Given the description of an element on the screen output the (x, y) to click on. 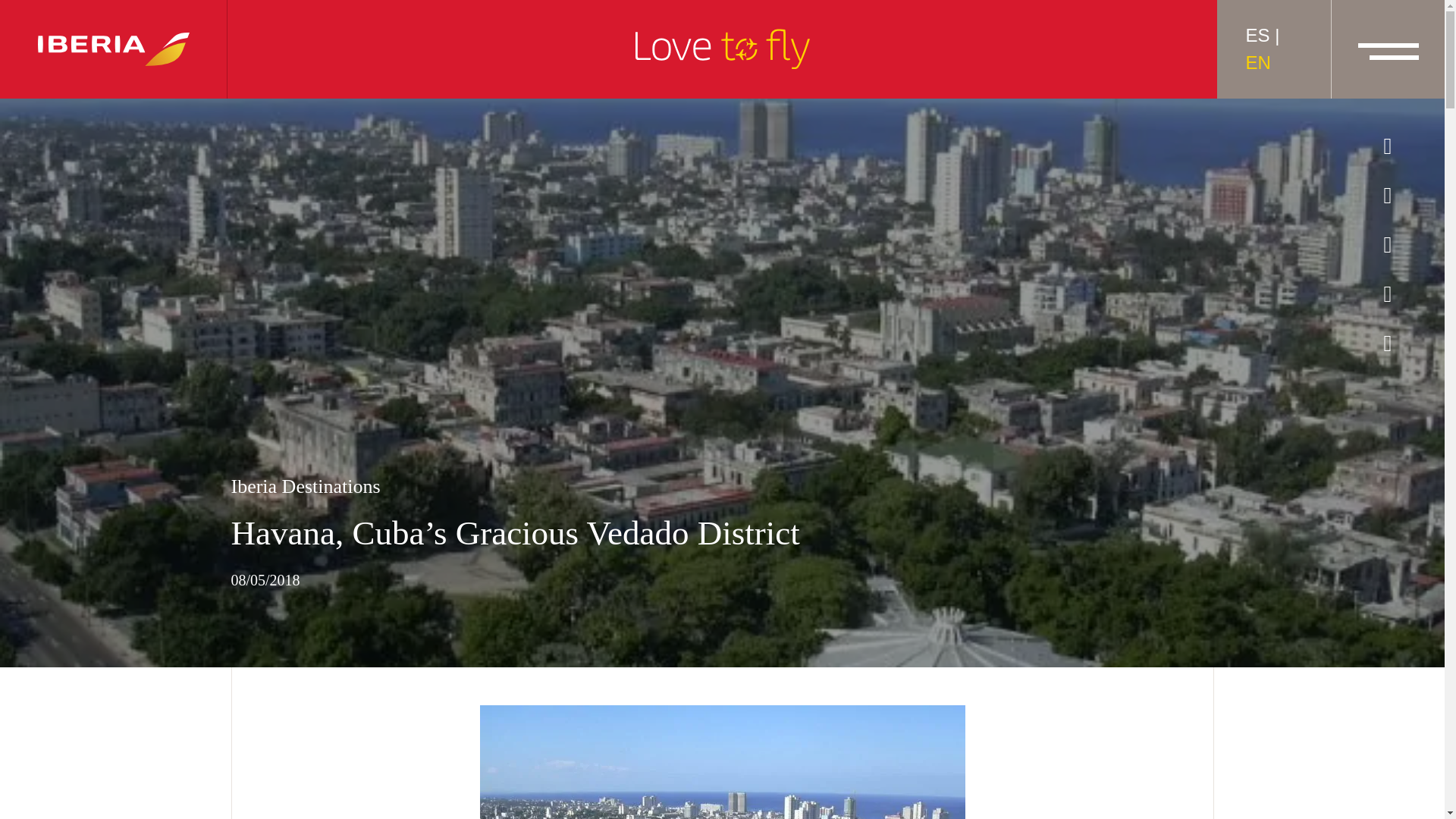
EN (1256, 62)
ES (1256, 35)
Iberia Destinations (721, 486)
Ivan2010 (721, 762)
